Given the description of an element on the screen output the (x, y) to click on. 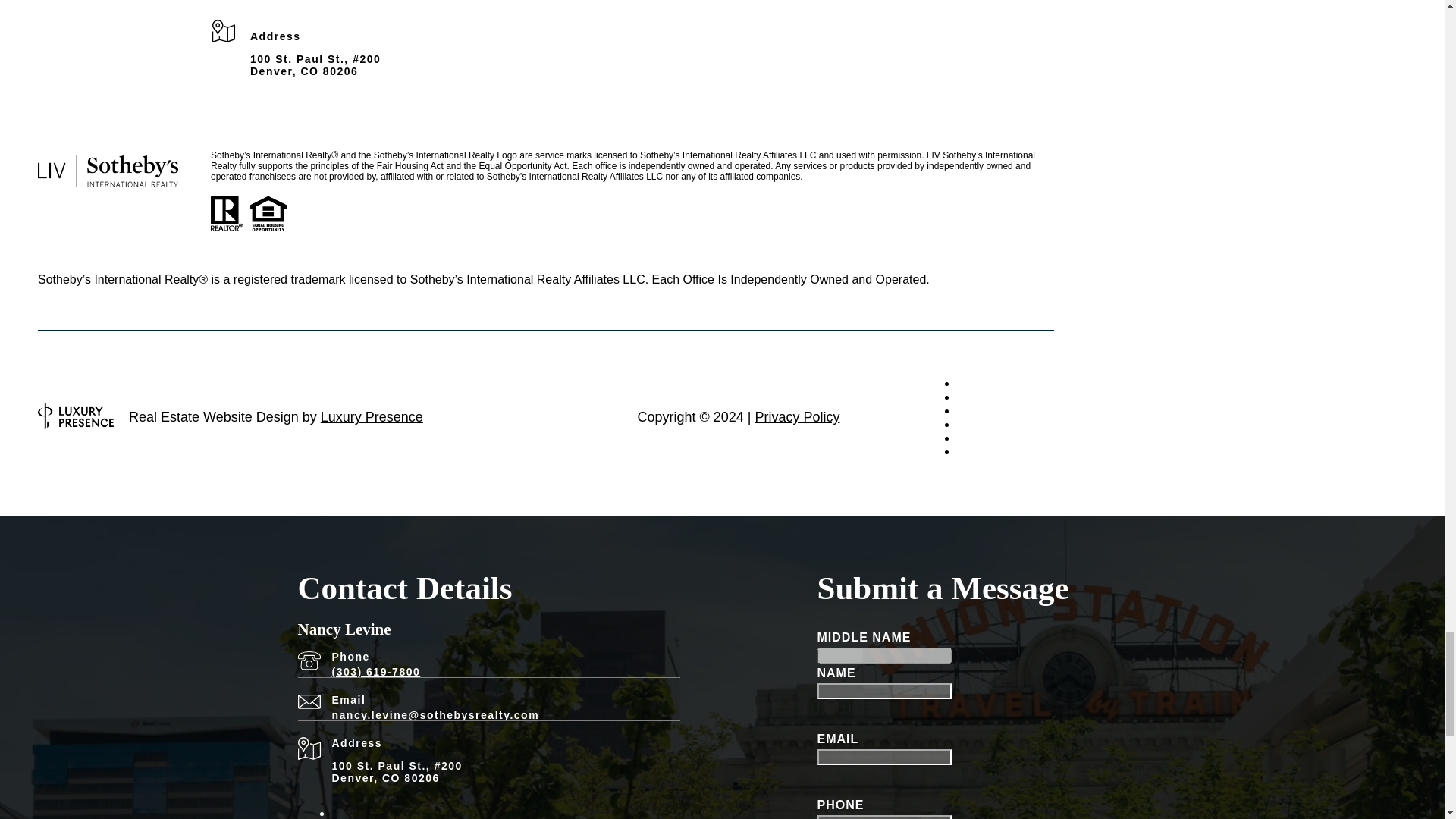
Luxury Presence (371, 417)
Privacy Policy (797, 417)
